Given the description of an element on the screen output the (x, y) to click on. 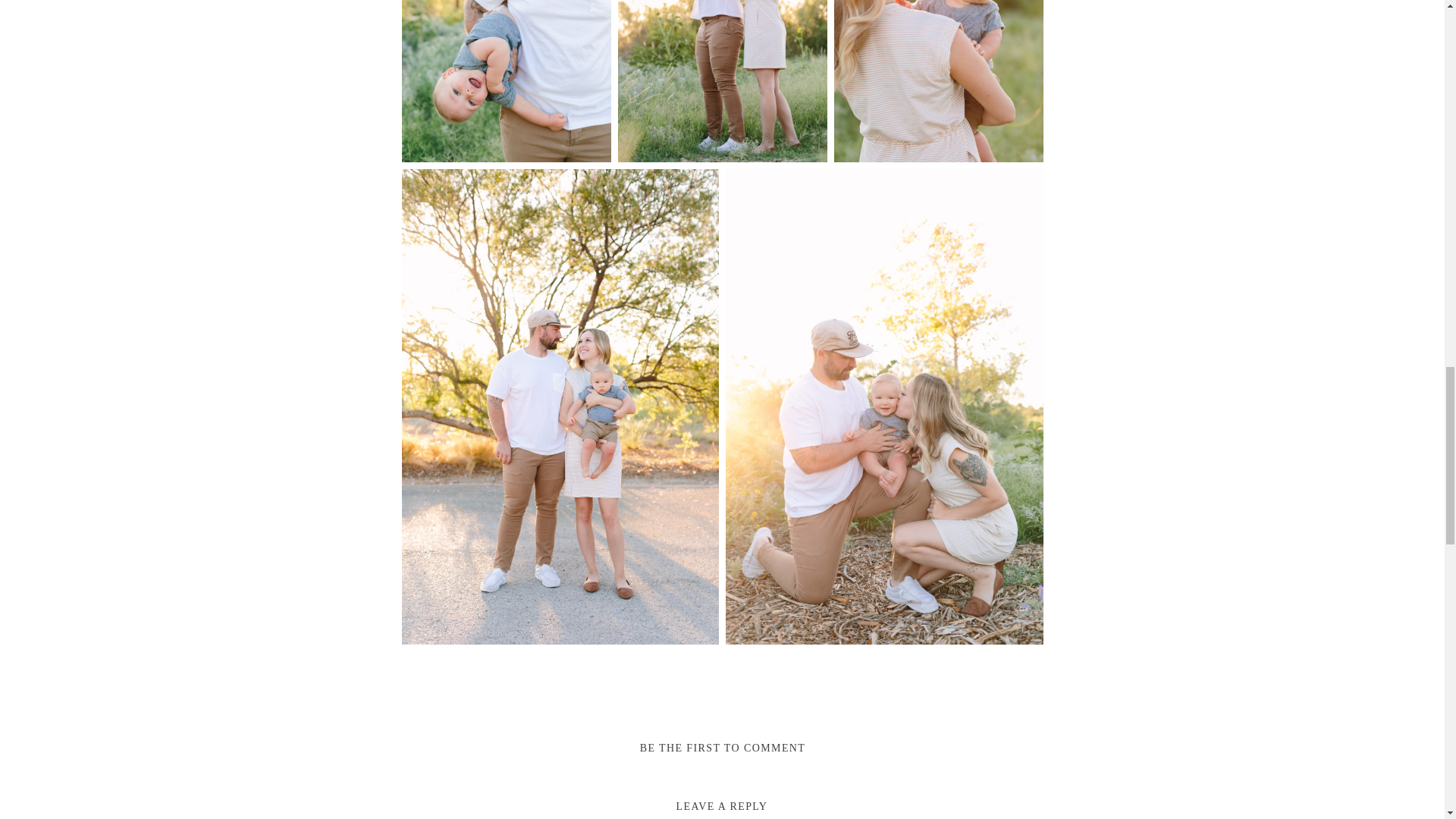
BE THE FIRST TO COMMENT (723, 747)
